Given the description of an element on the screen output the (x, y) to click on. 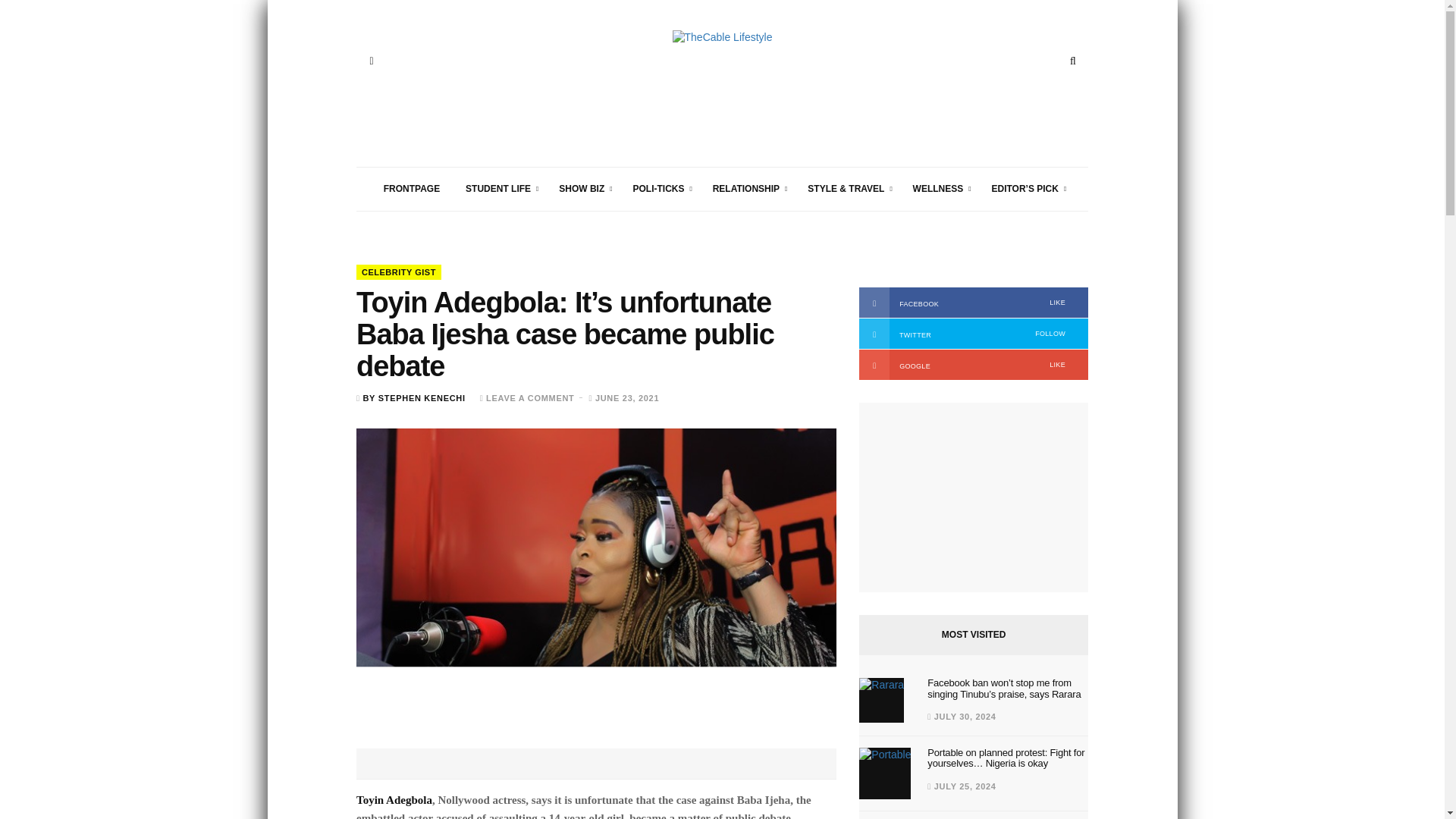
FRONTPAGE (411, 188)
STUDENT LIFE (499, 188)
POLI-TICKS (659, 188)
SHOW BIZ (582, 188)
Search (1072, 60)
